Given the description of an element on the screen output the (x, y) to click on. 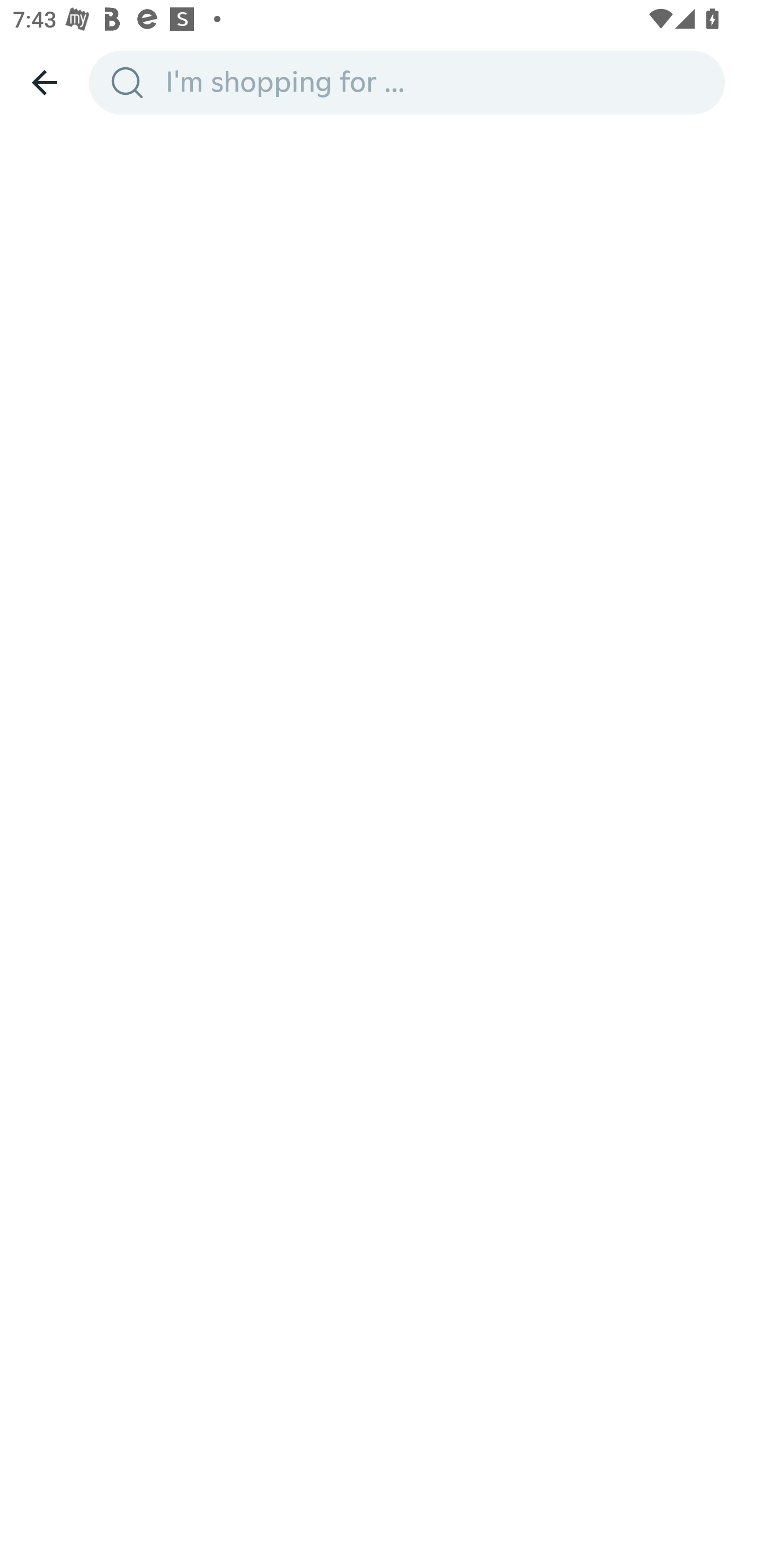
Navigate up (44, 82)
I'm shopping for ... (438, 81)
